Given the description of an element on the screen output the (x, y) to click on. 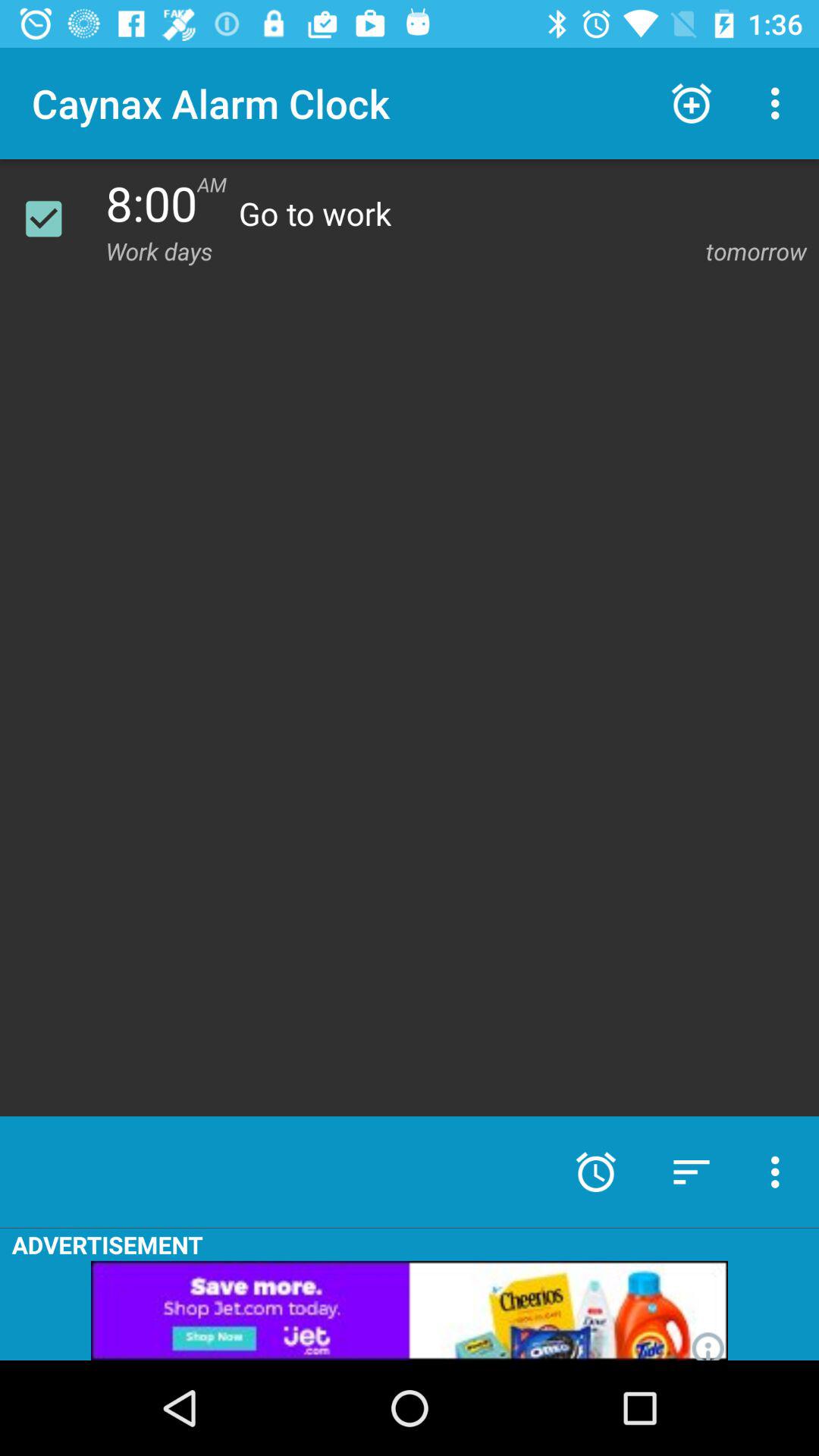
uncheck alarm (53, 218)
